Given the description of an element on the screen output the (x, y) to click on. 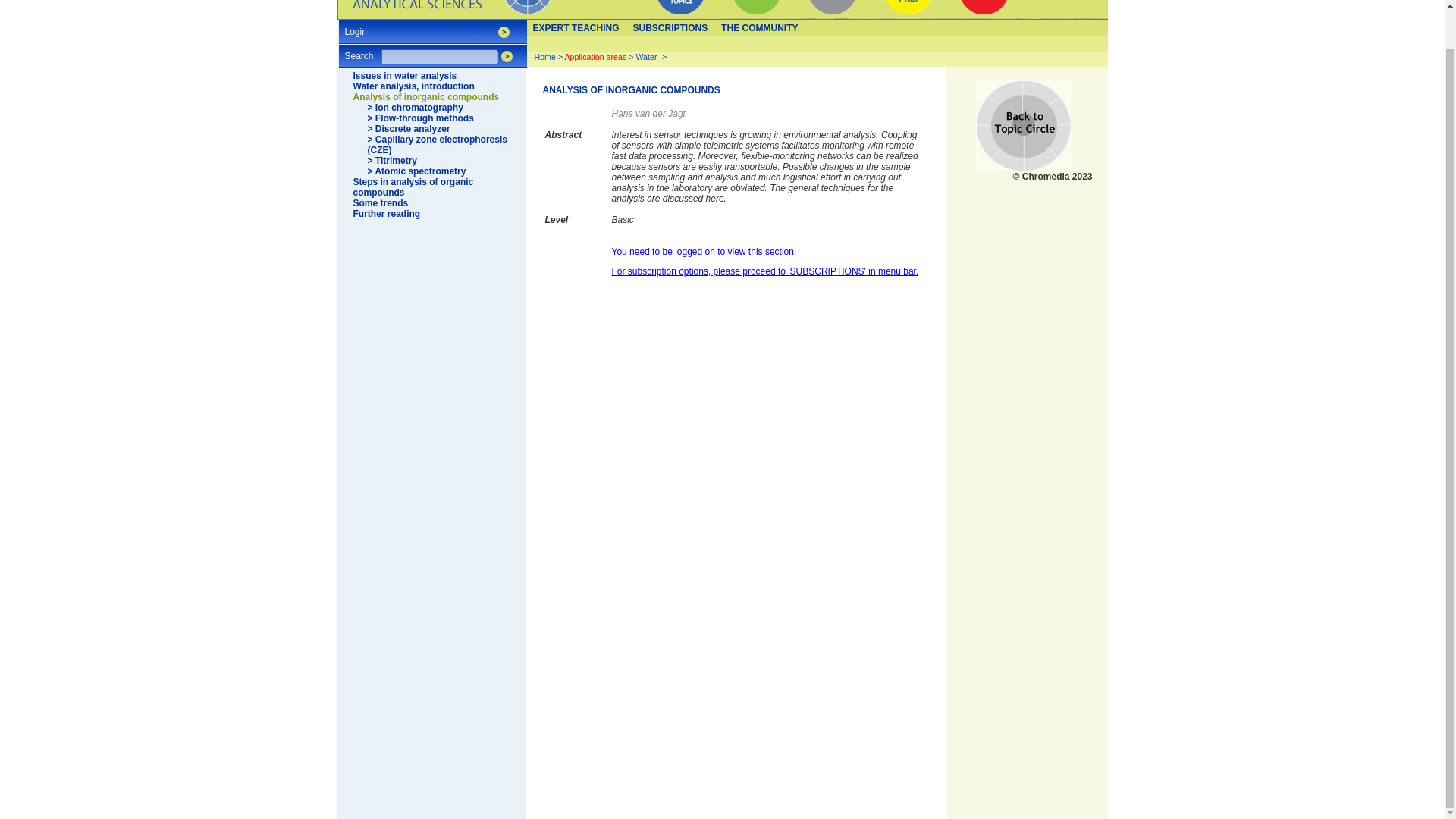
Further reading (386, 213)
THE COMMUNITY (759, 28)
Water (645, 56)
Some trends (381, 203)
Application areas (596, 56)
SUBSCRIPTIONS (670, 28)
Steps in analysis of organic compounds (413, 187)
Home (544, 56)
Water analysis, introduction (413, 86)
